Given the description of an element on the screen output the (x, y) to click on. 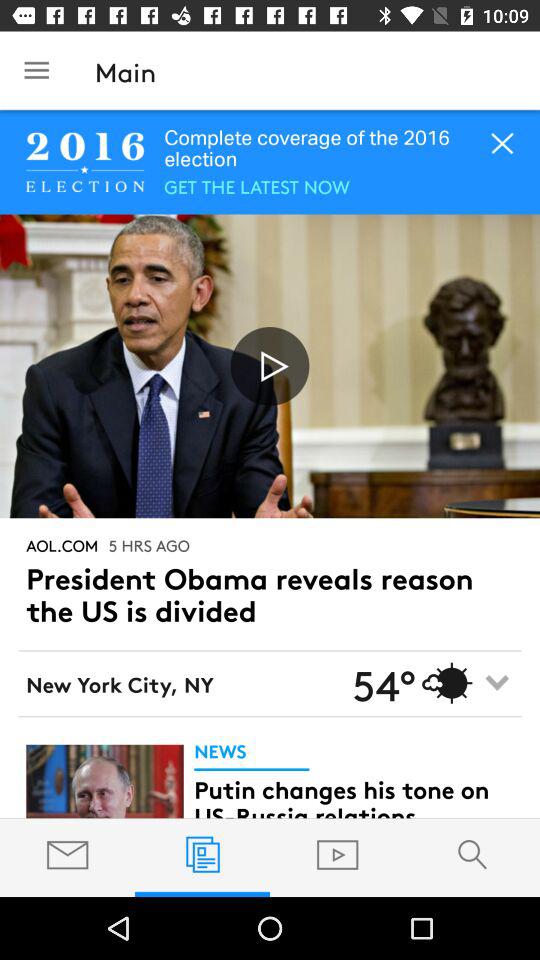
toggle to play (269, 366)
